Given the description of an element on the screen output the (x, y) to click on. 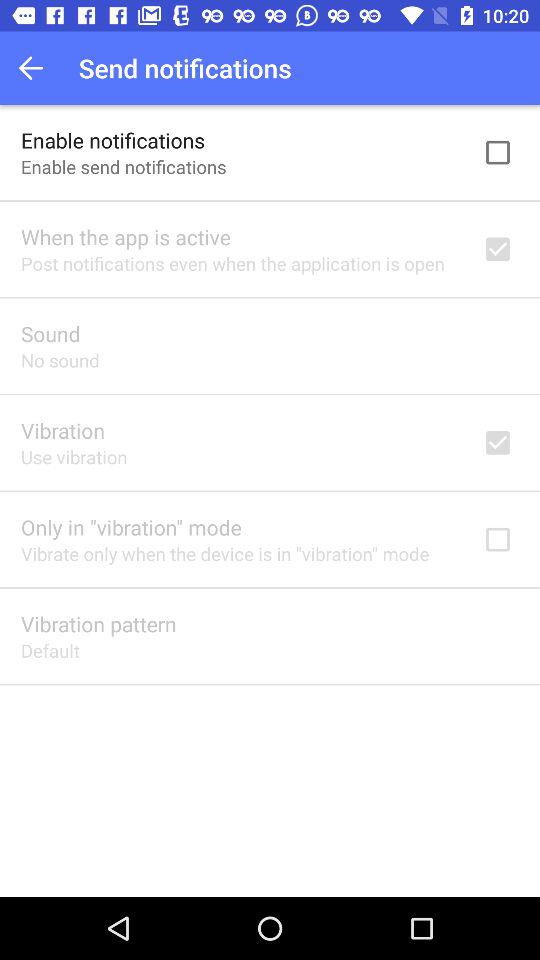
turn off the item to the left of send notifications (36, 68)
